Given the description of an element on the screen output the (x, y) to click on. 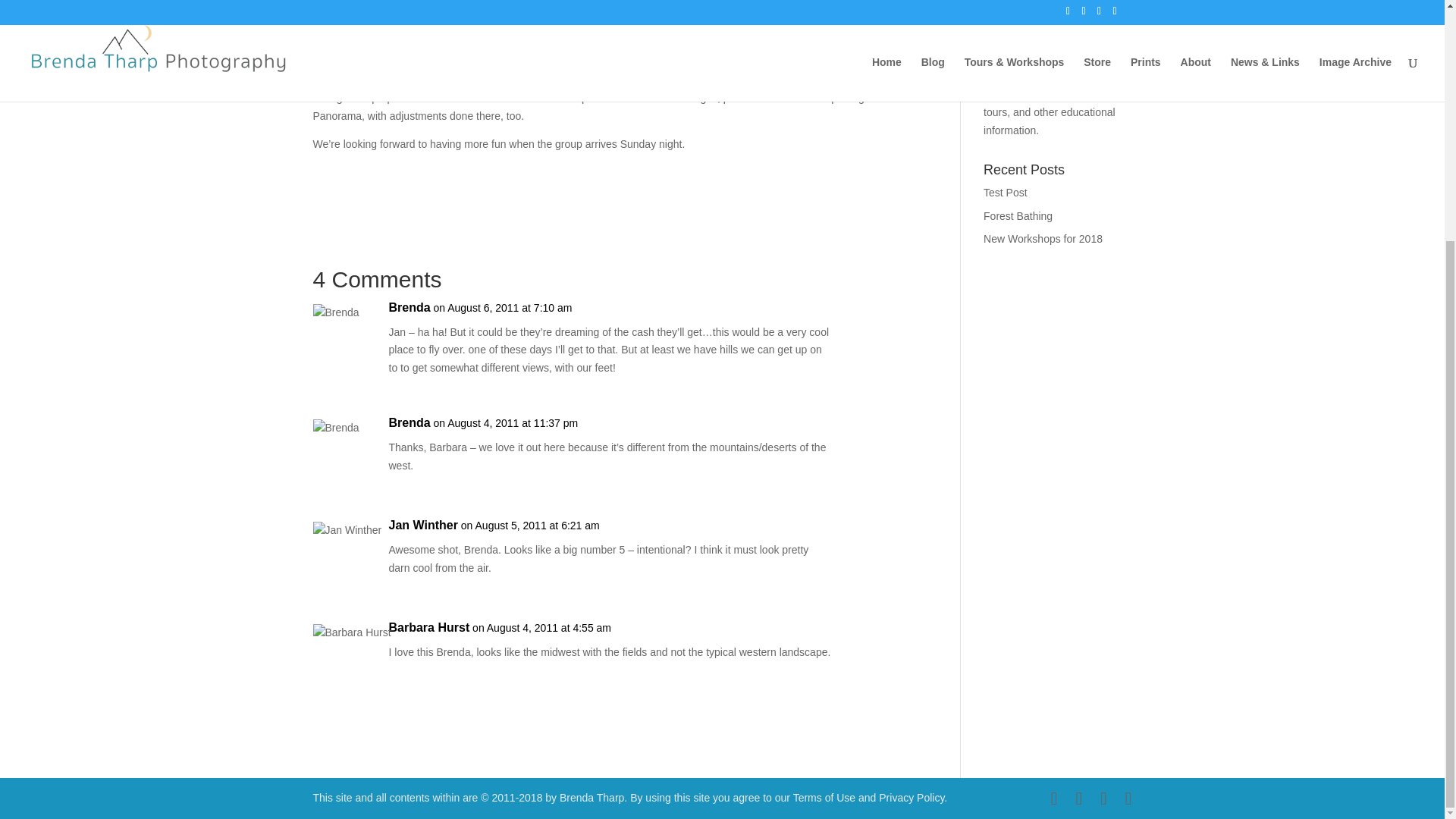
Test Post (1005, 192)
Barbara Hurst (428, 628)
Forest Bathing (1018, 215)
New Workshops for 2018 (1043, 238)
